Given the description of an element on the screen output the (x, y) to click on. 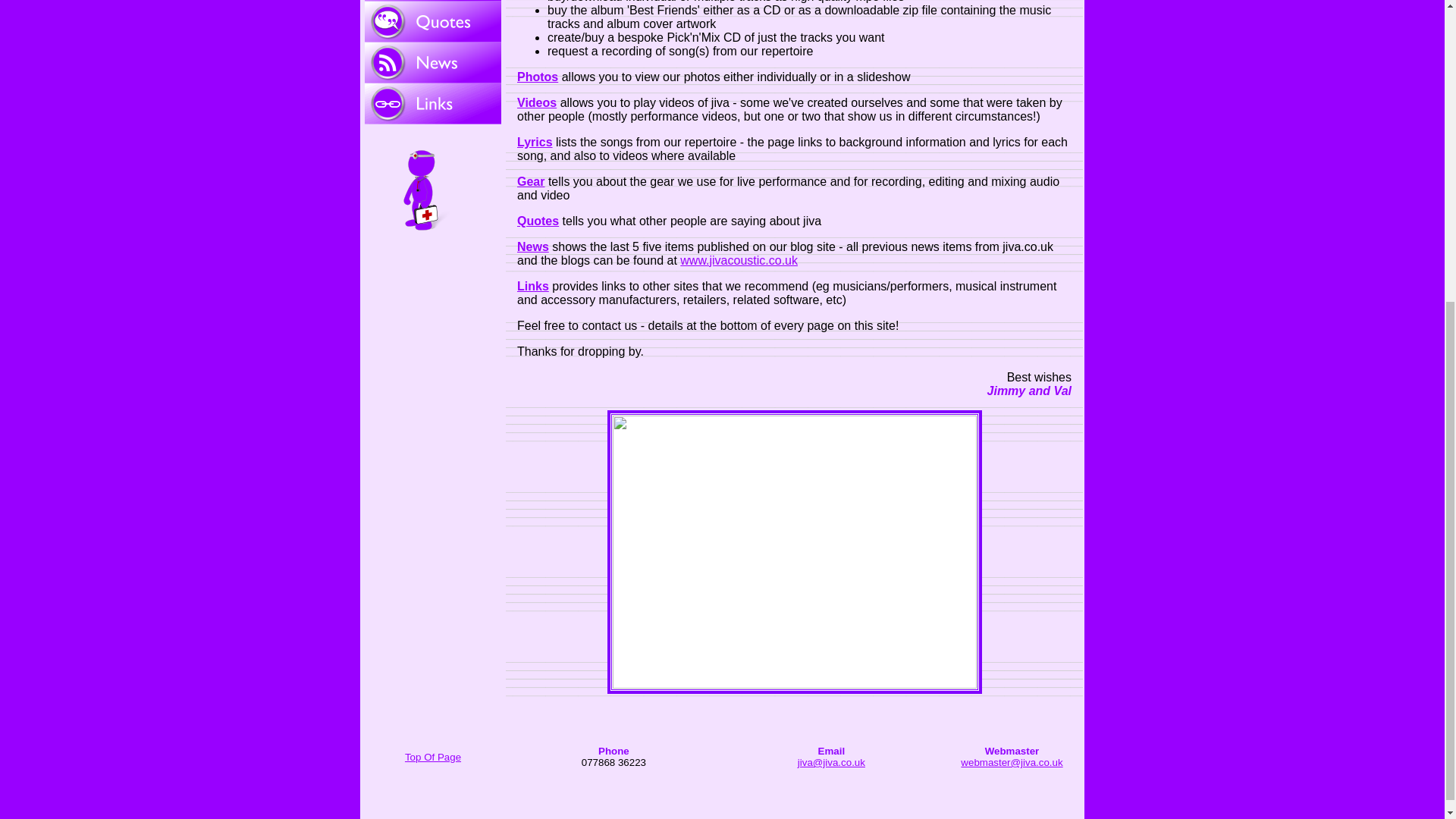
Quotes (537, 220)
Photos (536, 76)
Links (532, 286)
Lyrics (534, 141)
News (532, 246)
Gear (530, 181)
www.jivacoustic.co.uk (738, 259)
Top Of Page (432, 756)
Videos (536, 102)
